Given the description of an element on the screen output the (x, y) to click on. 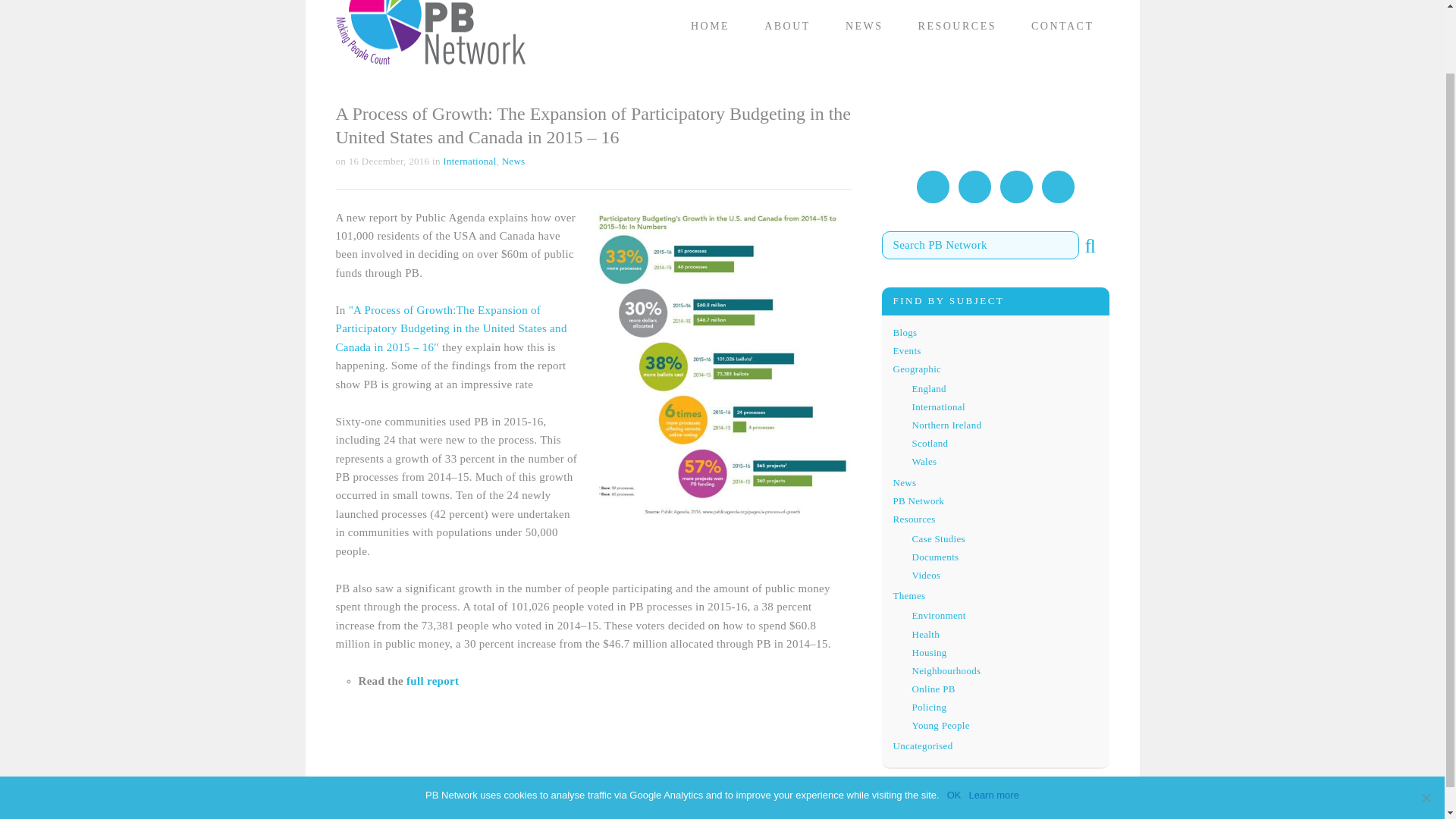
International (937, 406)
CONTACT (1062, 26)
Geographic (917, 368)
PB Network (429, 39)
PB Network (918, 500)
Resources (914, 518)
England (927, 388)
RESOURCES (956, 26)
ABOUT (787, 26)
International (469, 161)
Environment (938, 614)
PB Network (429, 39)
HOME (709, 26)
Documents (934, 556)
Blogs (905, 332)
